Given the description of an element on the screen output the (x, y) to click on. 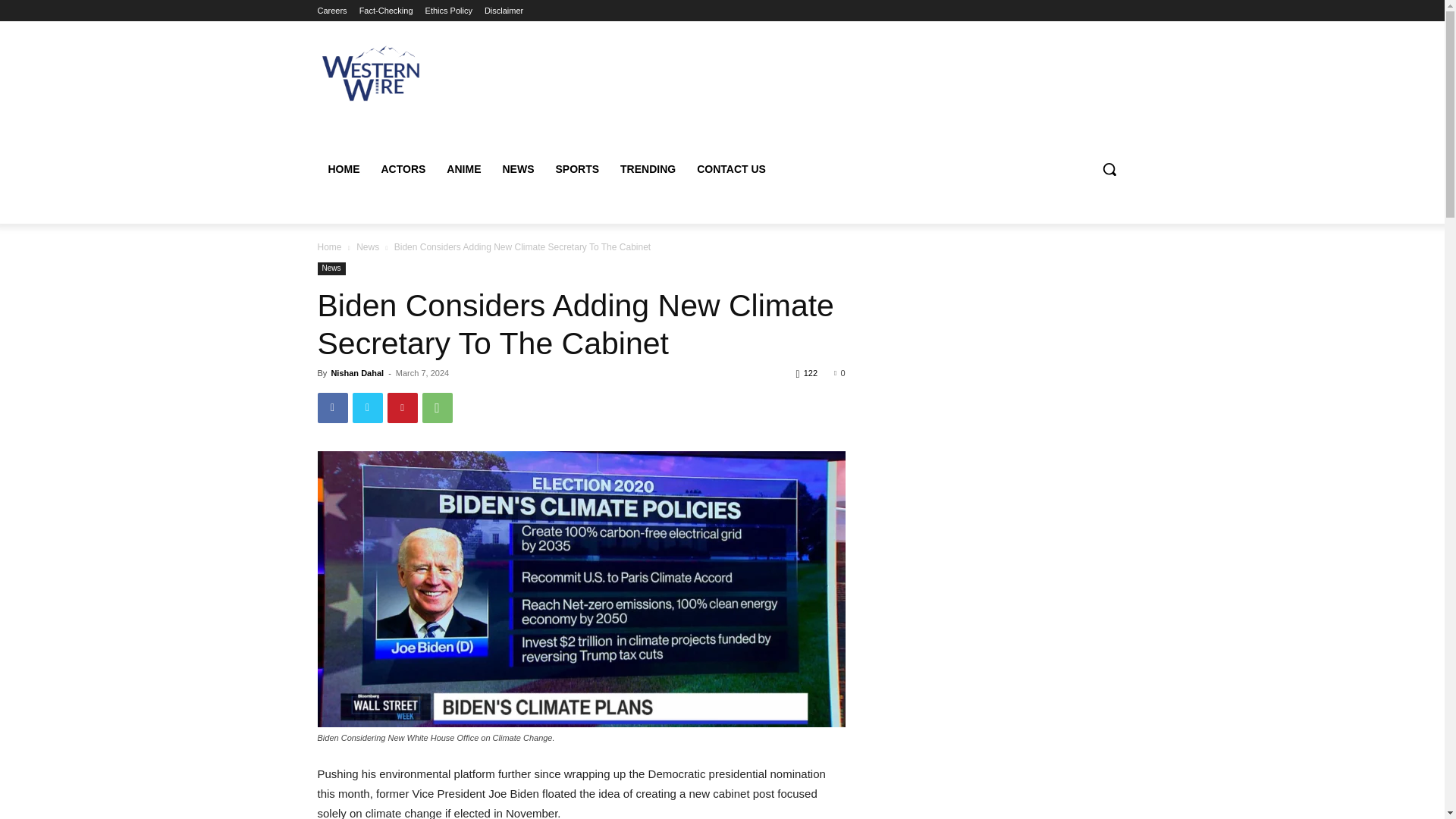
HOME (343, 168)
Careers (331, 10)
Home (328, 246)
Ethics Policy (448, 10)
ACTORS (402, 168)
Facebook (332, 408)
CONTACT US (730, 168)
Fact-Checking (386, 10)
Disclaimer (503, 10)
News (367, 246)
Nishan Dahal (357, 372)
SPORTS (577, 168)
0 (839, 372)
WhatsApp (436, 408)
